Given the description of an element on the screen output the (x, y) to click on. 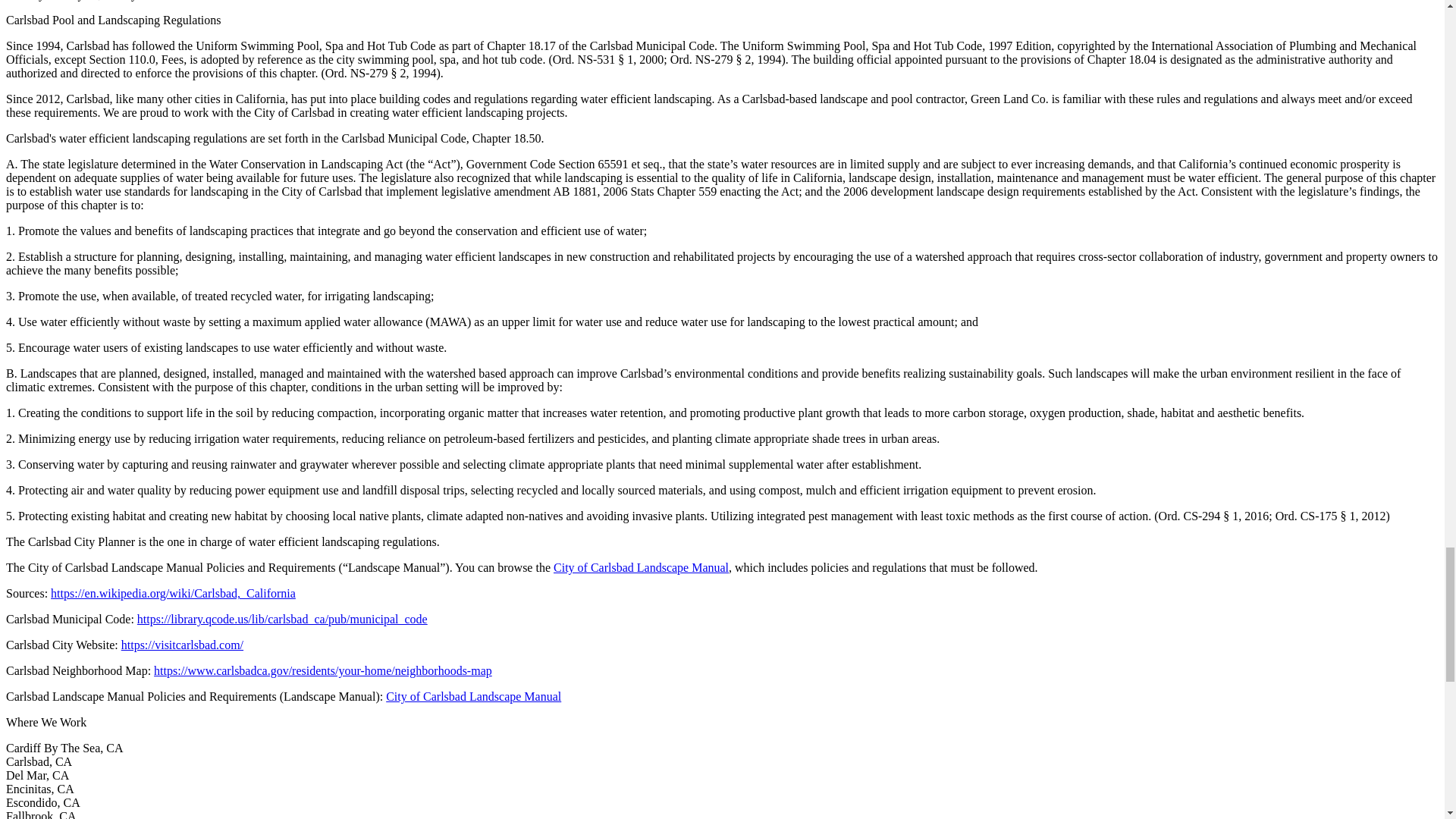
City of Carlsbad Landscape Manual (641, 567)
City of Carlsbad Landscape Manual (472, 696)
